Given the description of an element on the screen output the (x, y) to click on. 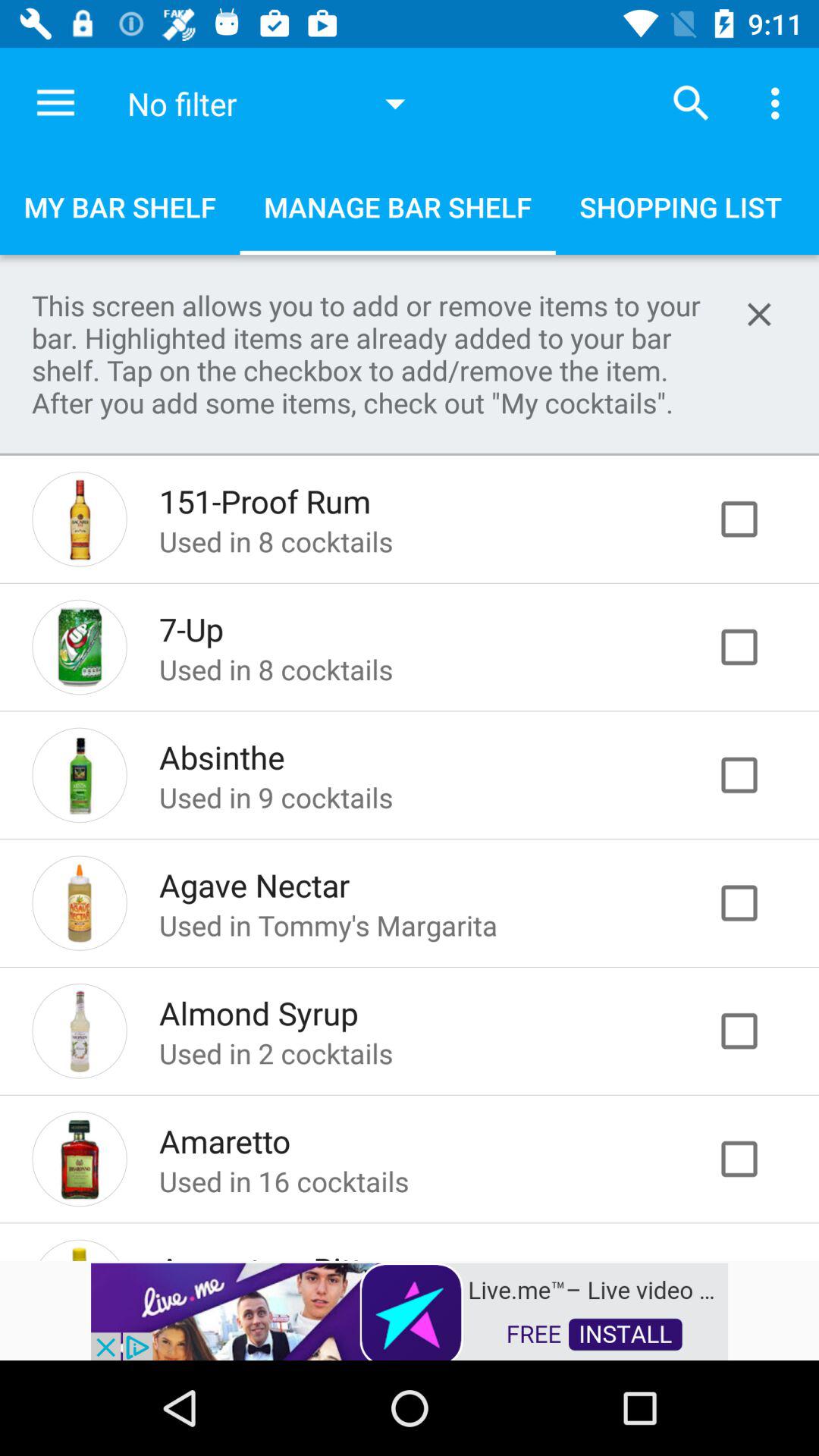
select item (755, 1158)
